Given the description of an element on the screen output the (x, y) to click on. 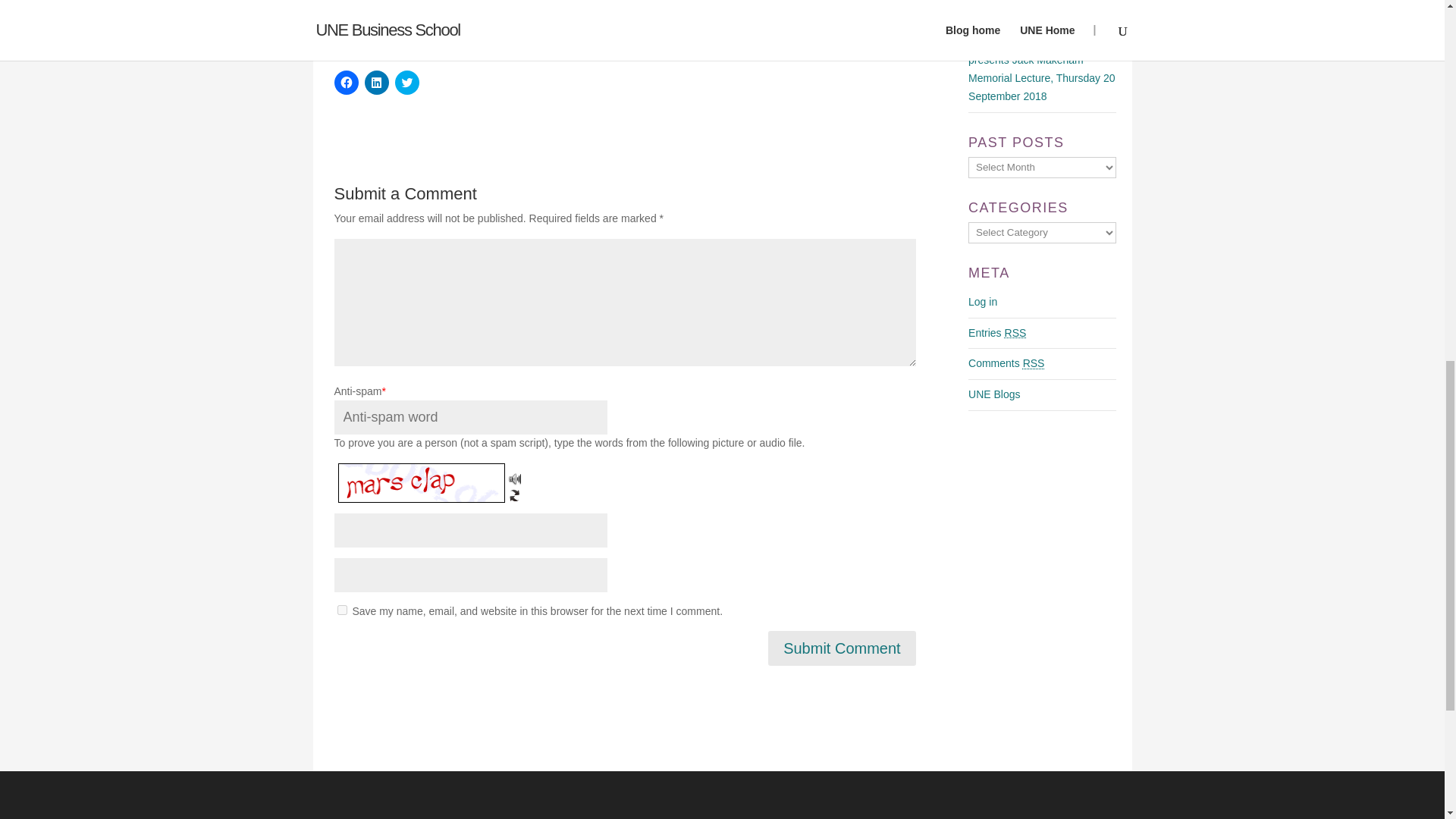
Load new (513, 489)
Submit Comment (841, 647)
Powered by UNE Blogs (994, 394)
Listen (513, 472)
UNE Blogs (994, 394)
Click to share on LinkedIn (376, 82)
yes (341, 610)
Entries RSS (997, 332)
Syndicate this site using RSS 2.0 (997, 332)
Click to share on Twitter (406, 82)
The latest comments to all posts in RSS (1005, 363)
Really Simple Syndication (1034, 363)
Click to share on Facebook (345, 82)
Submit Comment (841, 647)
Really Simple Syndication (1015, 332)
